Given the description of an element on the screen output the (x, y) to click on. 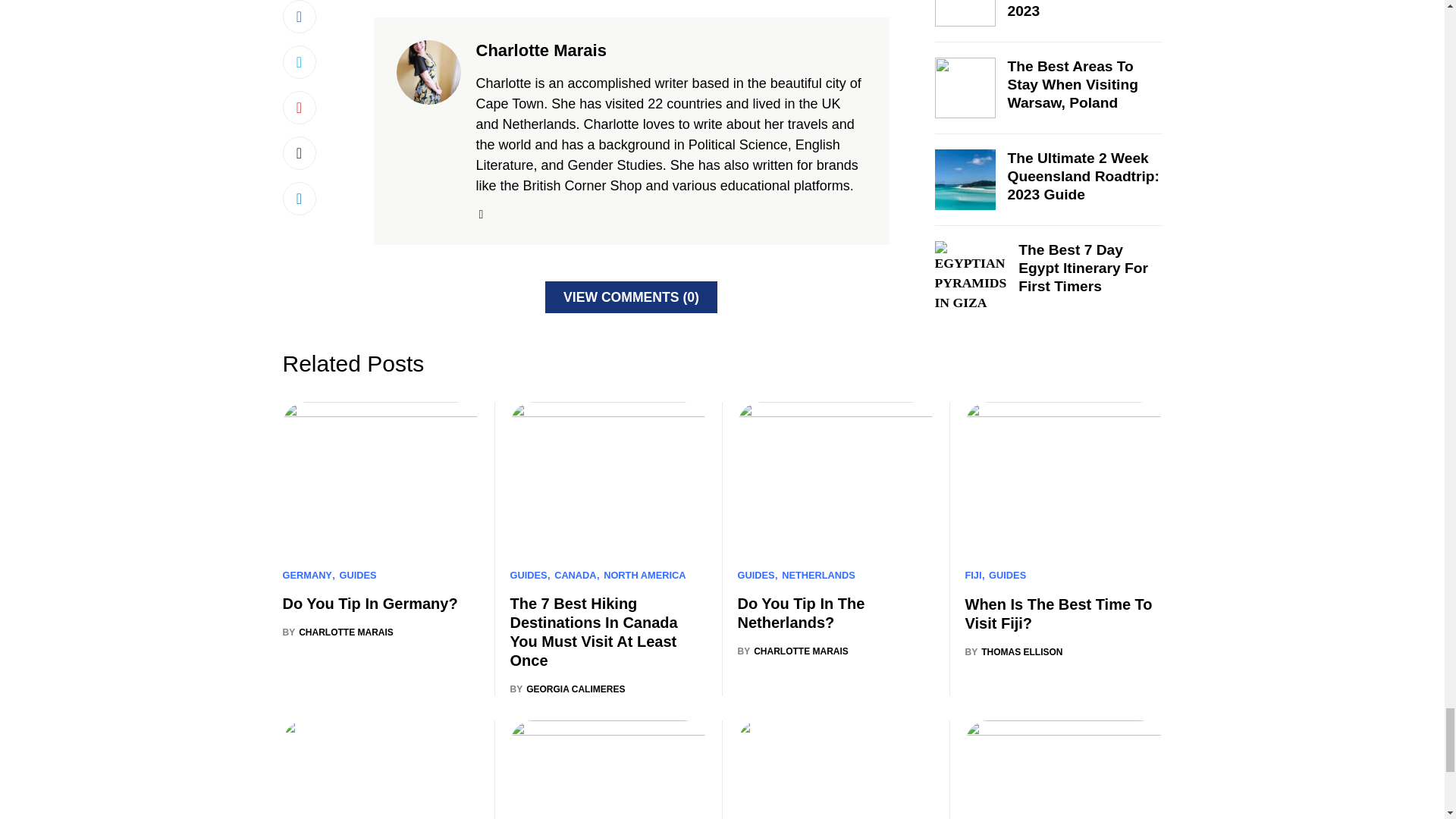
View all posts by Georgia Calimeres (566, 689)
View all posts by Charlotte Marais (337, 632)
View all posts by Charlotte Marais (791, 651)
View all posts by Thomas Ellison (1012, 652)
